Given the description of an element on the screen output the (x, y) to click on. 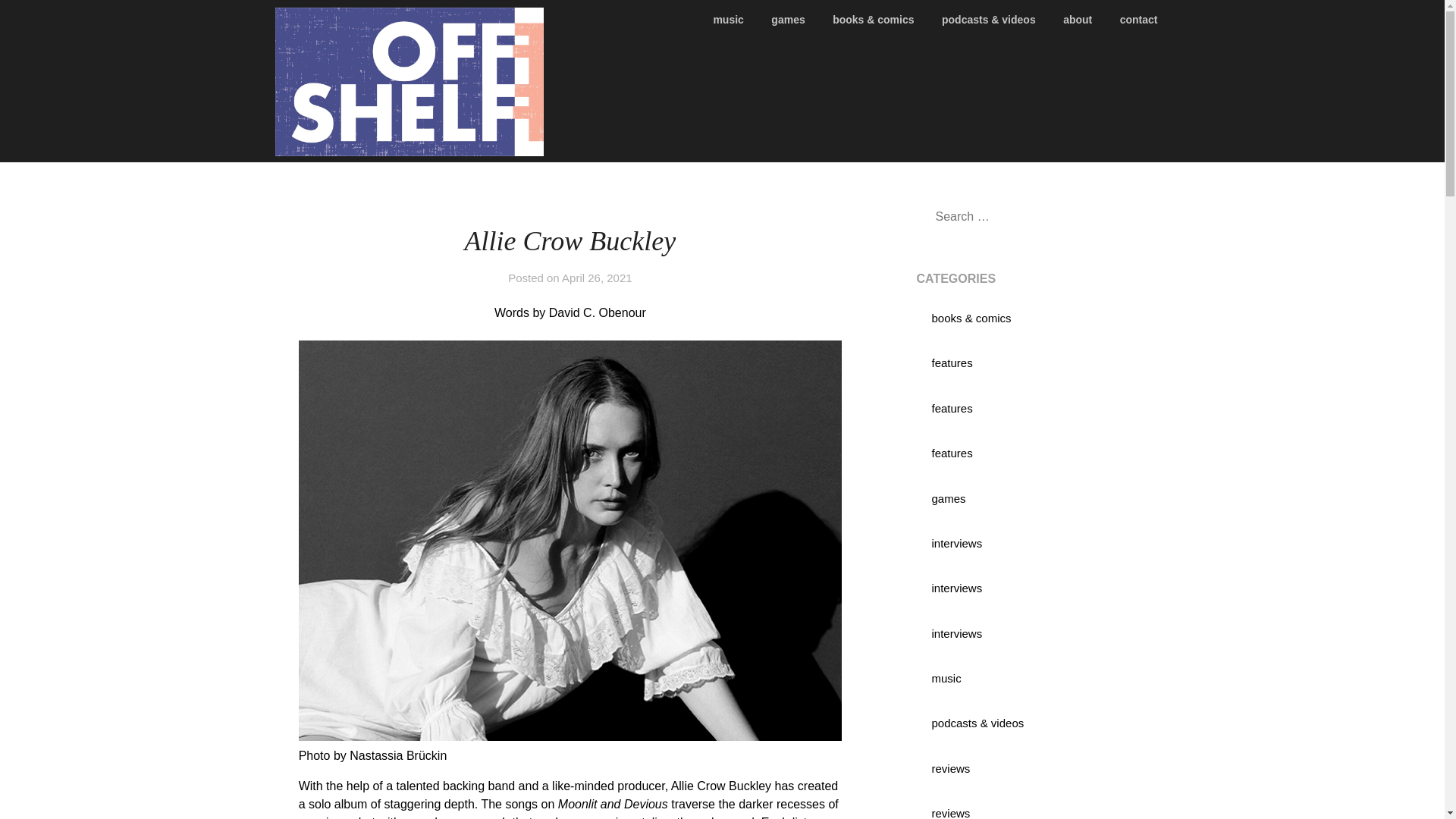
games (948, 498)
features (951, 362)
about (1077, 20)
games (787, 20)
features (951, 408)
interviews (956, 587)
reviews (950, 768)
Search (38, 22)
contact (1139, 20)
interviews (956, 543)
